Given the description of an element on the screen output the (x, y) to click on. 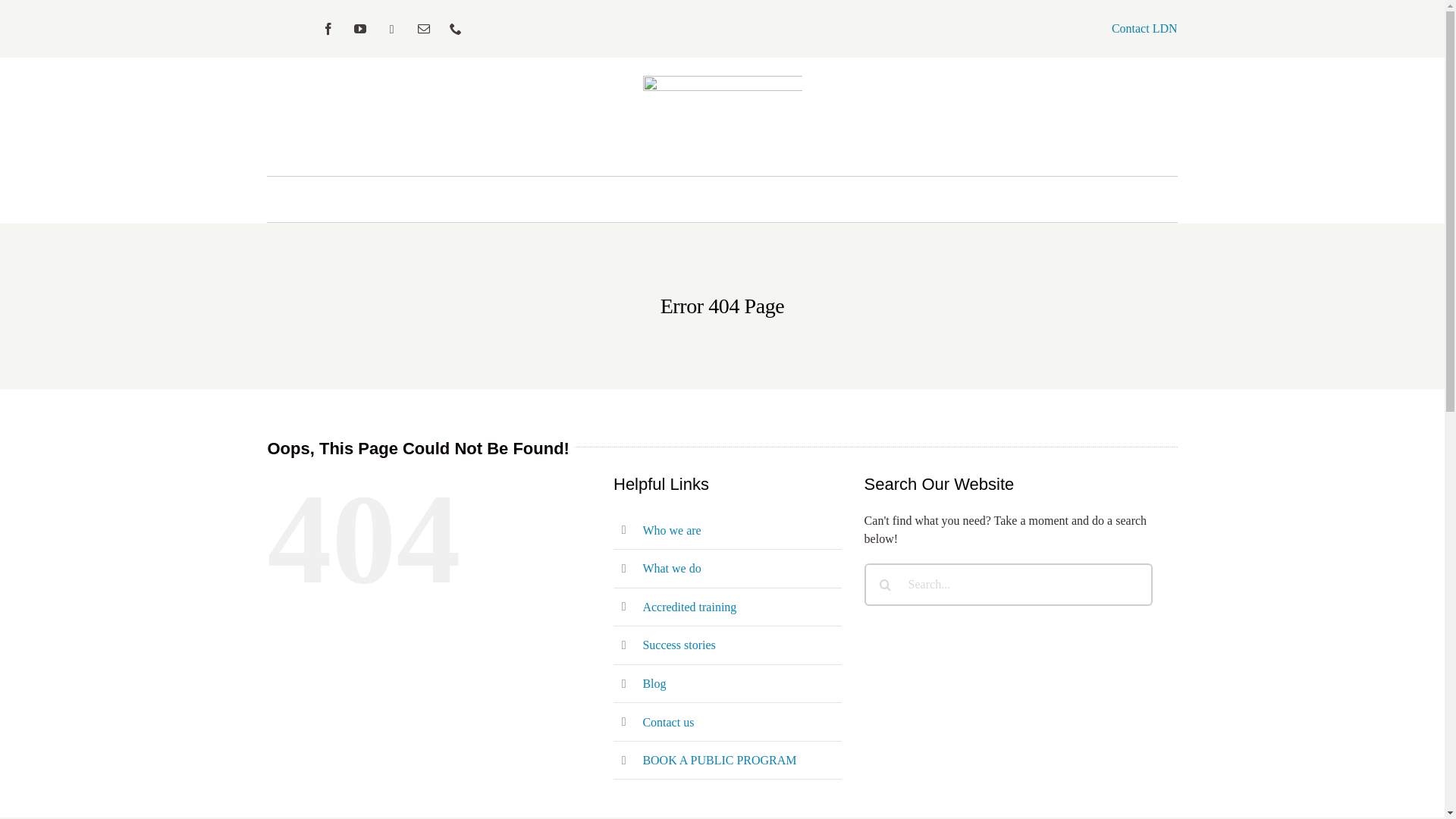
Email Element type: hover (423, 28)
Who we are Element type: text (671, 530)
Success stories Element type: text (678, 644)
Blog Element type: text (653, 683)
BOOK A PUBLIC PROGRAM Element type: text (719, 759)
LinkedIn Element type: hover (391, 28)
Facebook Element type: hover (328, 28)
Contact LDN Element type: text (1144, 27)
YouTube Element type: hover (360, 28)
What we do Element type: text (671, 567)
Accredited training Element type: text (689, 606)
Contact us Element type: text (667, 721)
Phone Element type: hover (455, 28)
